Given the description of an element on the screen output the (x, y) to click on. 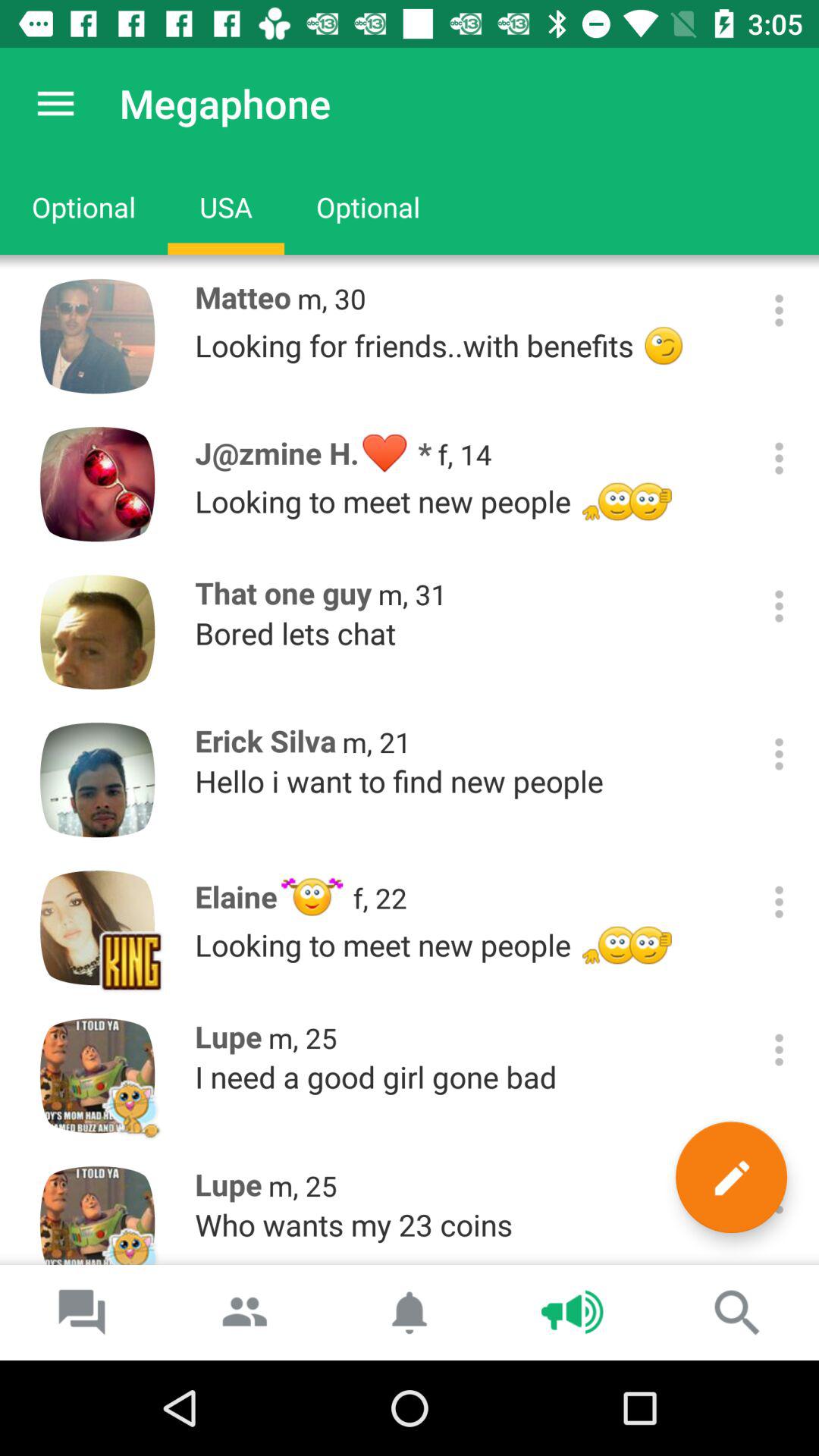
menu button (779, 1197)
